Given the description of an element on the screen output the (x, y) to click on. 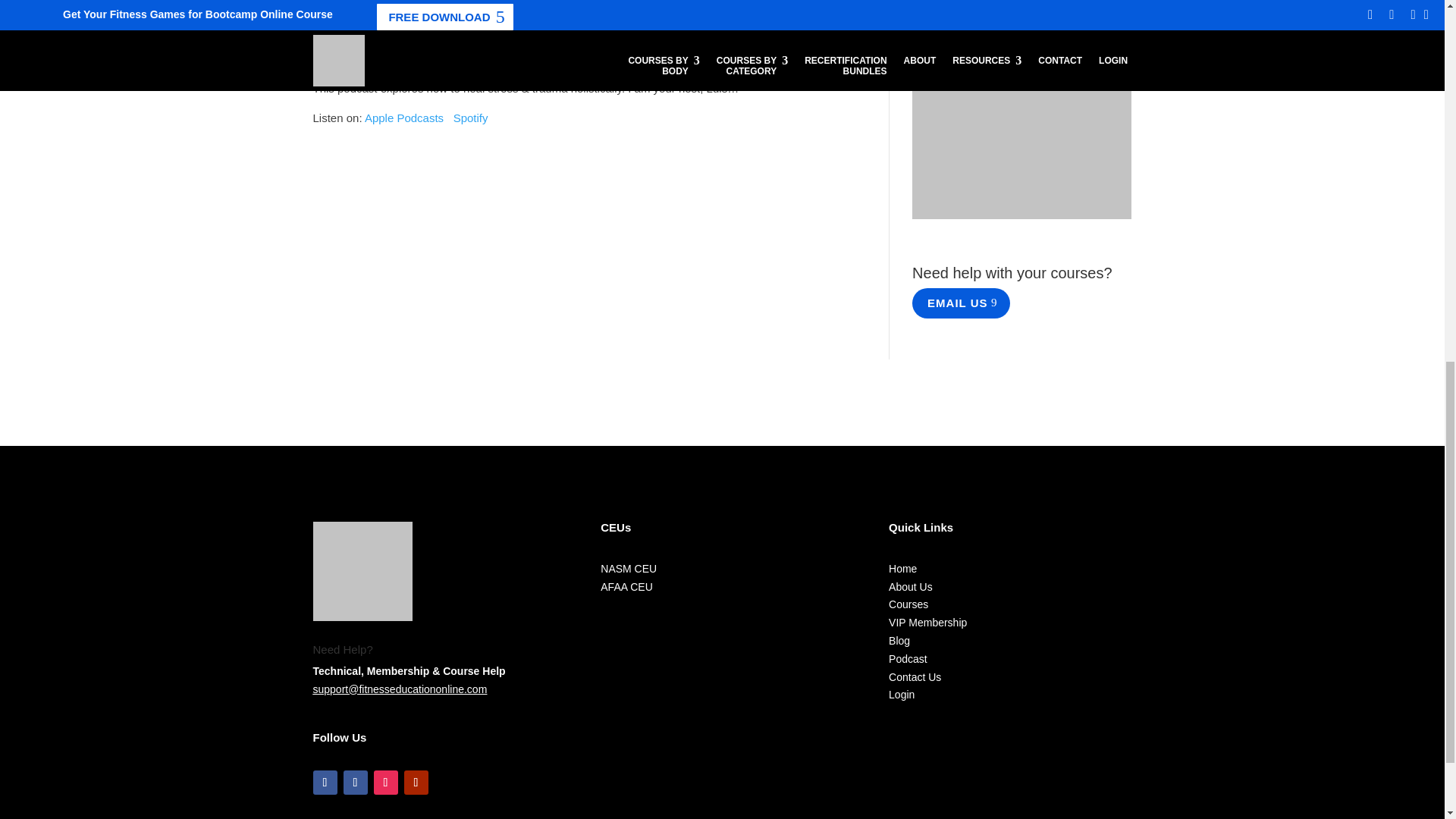
Follow on Instagram (384, 782)
Follow on Youtube (415, 782)
Follow on Facebook (324, 782)
Follow on Facebook (354, 782)
